Given the description of an element on the screen output the (x, y) to click on. 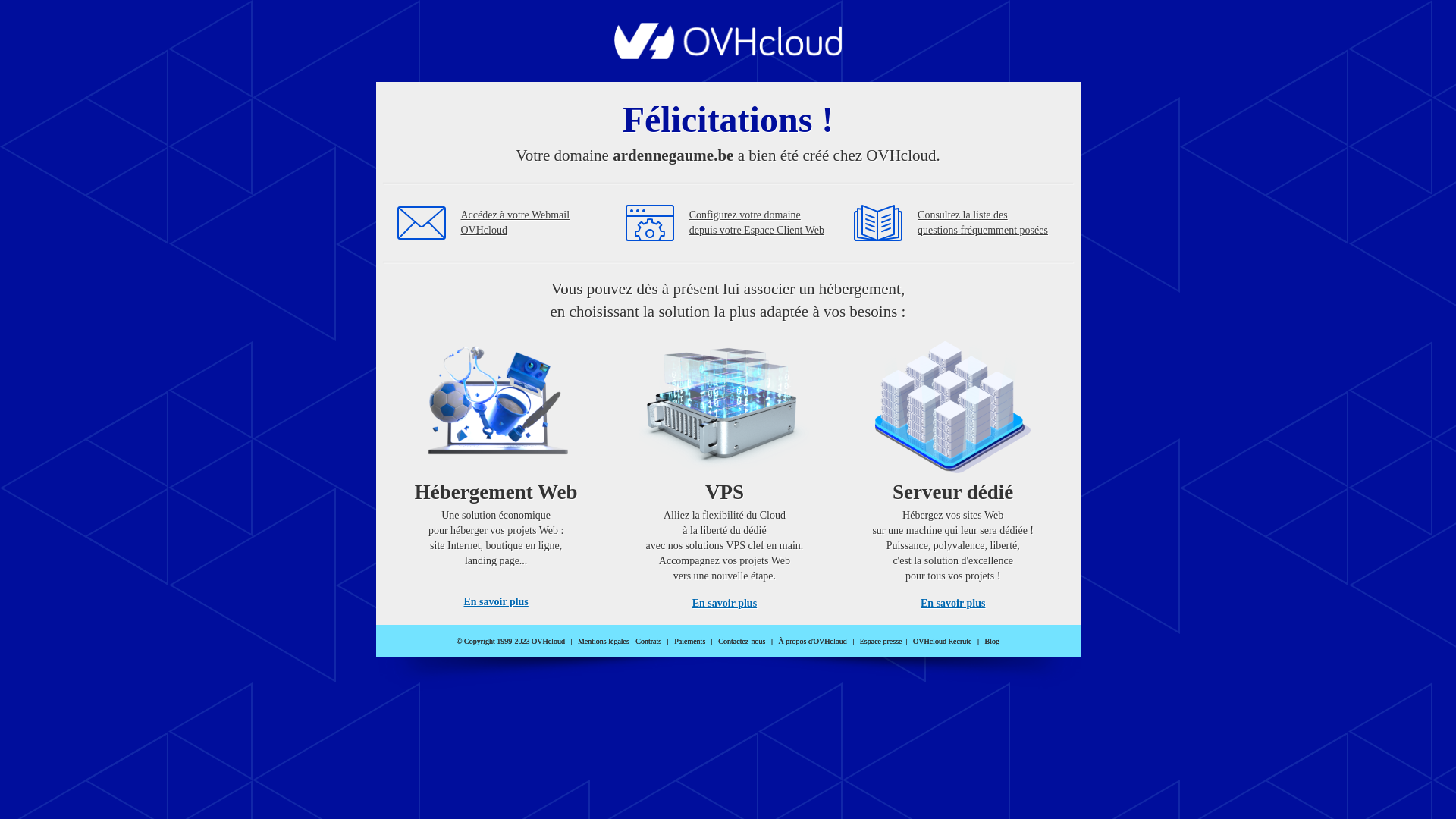
Espace presse Element type: text (880, 641)
Blog Element type: text (992, 641)
Contactez-nous Element type: text (741, 641)
En savoir plus Element type: text (495, 601)
Paiements Element type: text (689, 641)
VPS Element type: hover (724, 469)
OVHcloud Element type: hover (727, 54)
Configurez votre domaine
depuis votre Espace Client Web Element type: text (756, 222)
En savoir plus Element type: text (952, 602)
En savoir plus Element type: text (724, 602)
OVHcloud Recrute Element type: text (942, 641)
